Given the description of an element on the screen output the (x, y) to click on. 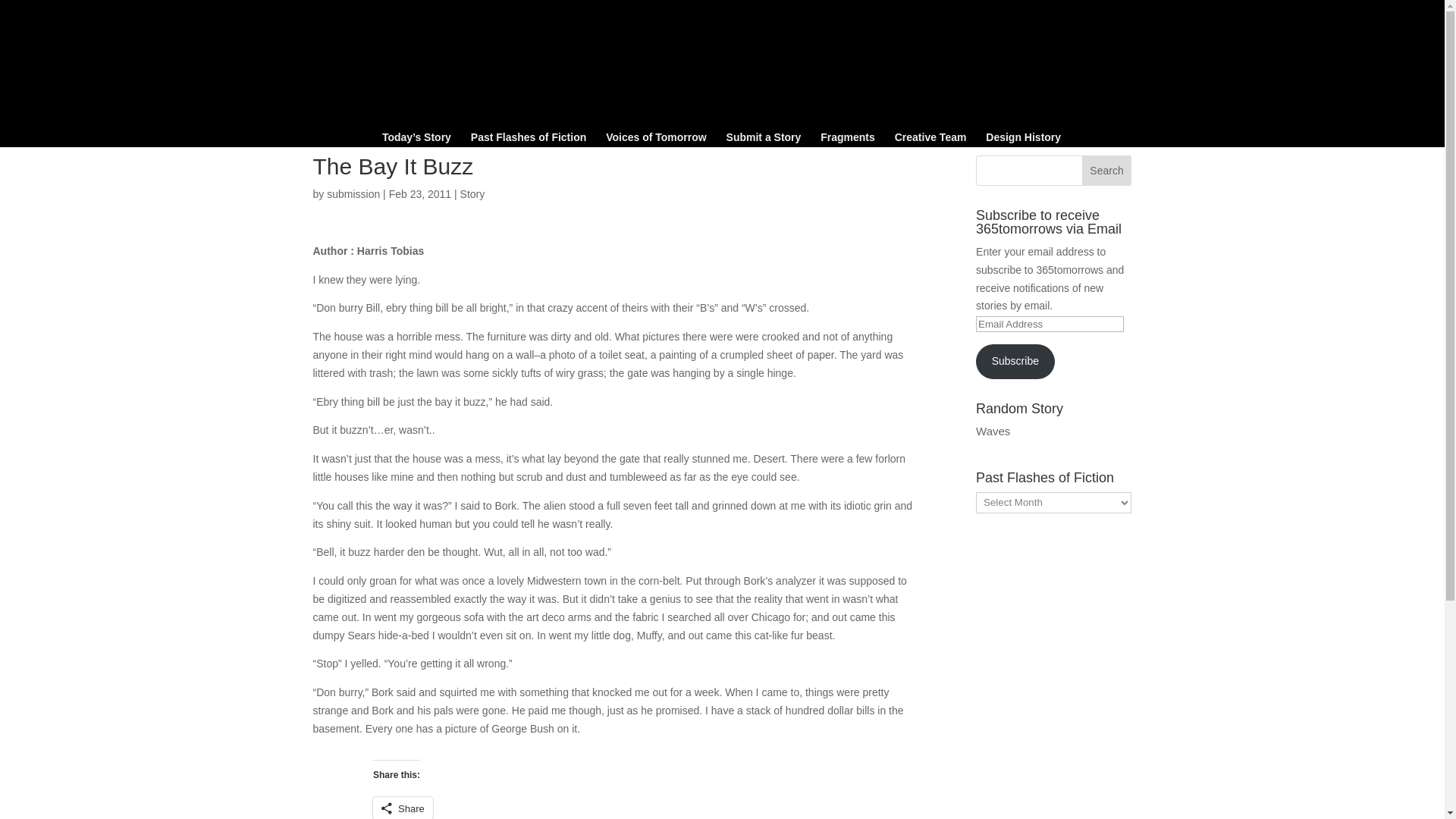
Search (1106, 170)
Subscribe (1014, 361)
Submit a Story (764, 139)
Search (1106, 170)
Past Flashes of Fiction (528, 139)
Voices of Tomorrow (655, 139)
Story (472, 193)
Waves (992, 431)
Fragments (848, 139)
Posts by submission (353, 193)
